Given the description of an element on the screen output the (x, y) to click on. 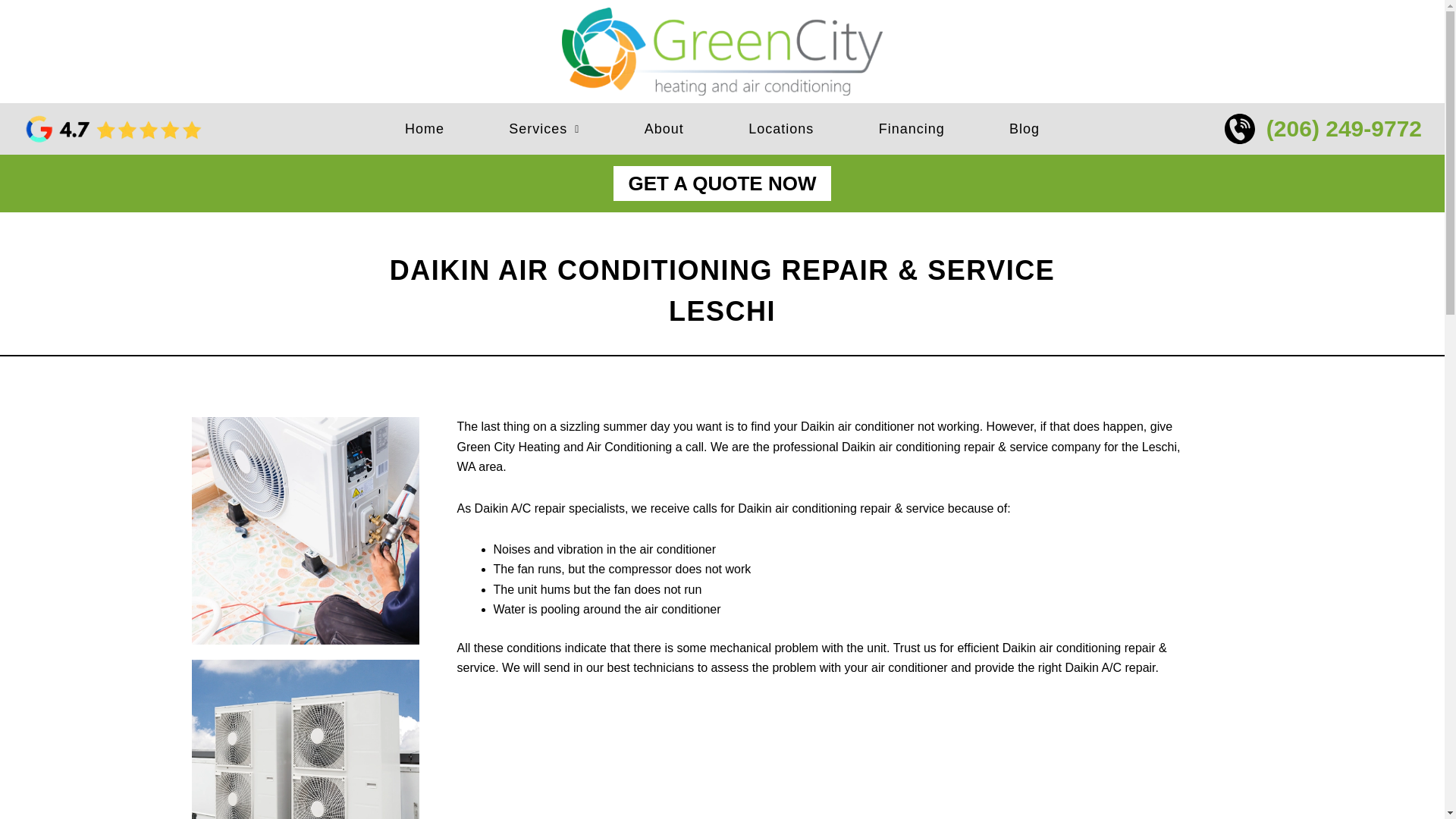
Services (544, 128)
About (663, 128)
Financing (910, 128)
Locations (780, 128)
Blog (1023, 128)
Home (424, 128)
GET A QUOTE NOW (721, 183)
